Given the description of an element on the screen output the (x, y) to click on. 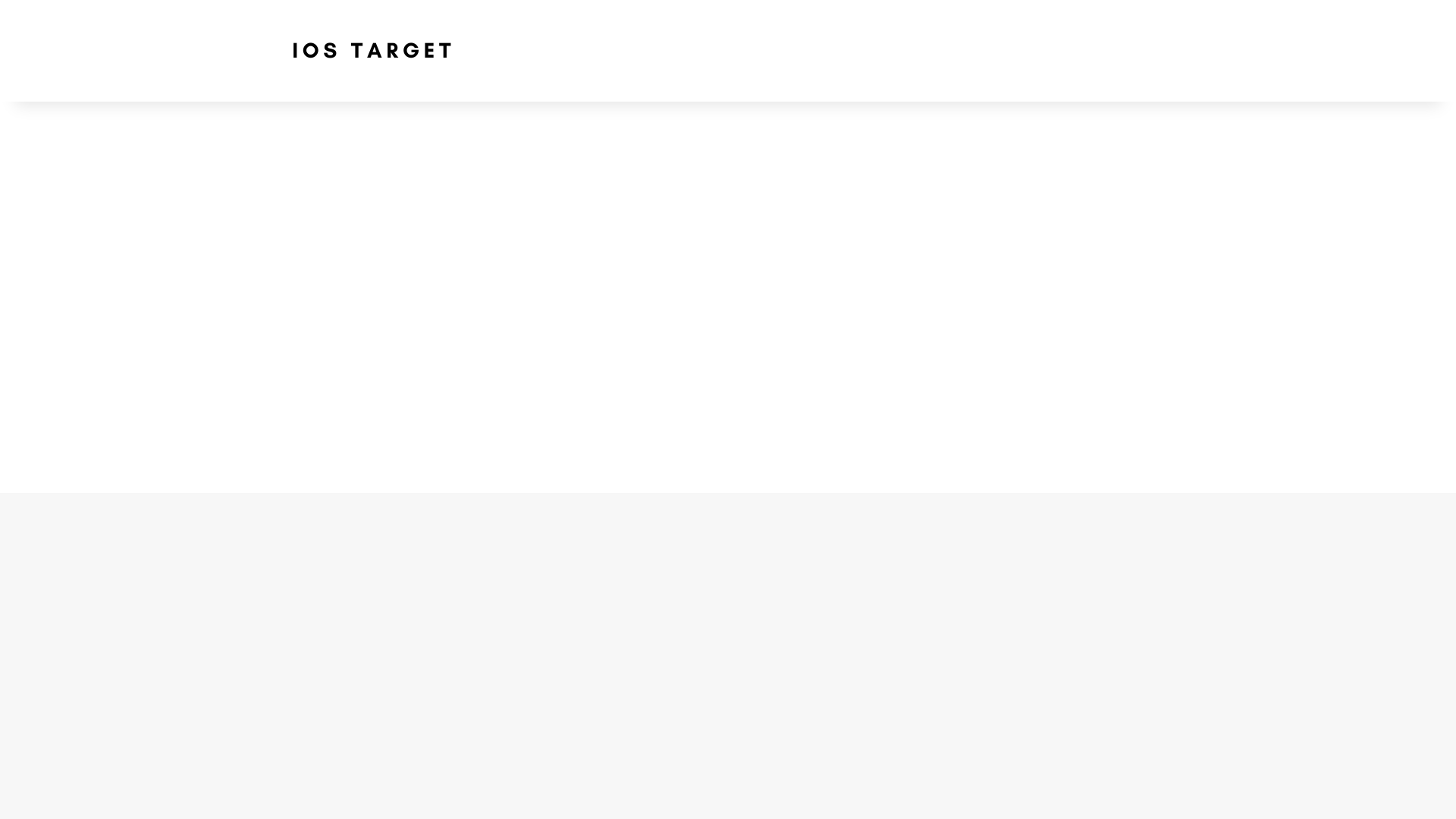
iOS Target (370, 50)
